Given the description of an element on the screen output the (x, y) to click on. 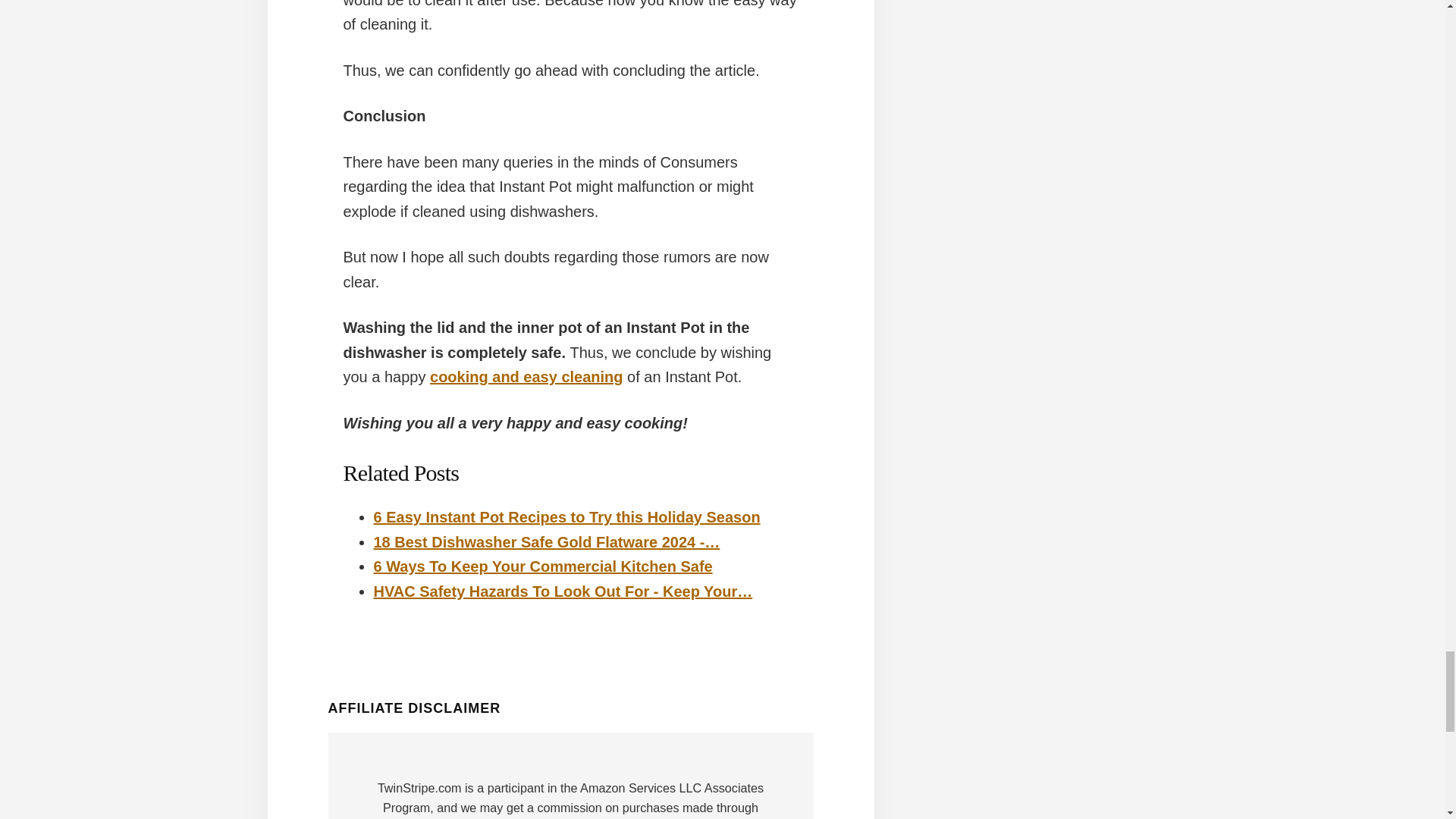
6 Ways To Keep Your Commercial Kitchen Safe (541, 565)
6 Easy Instant Pot Recipes to Try this Holiday Season (566, 516)
cooking and easy cleaning (526, 376)
